Given the description of an element on the screen output the (x, y) to click on. 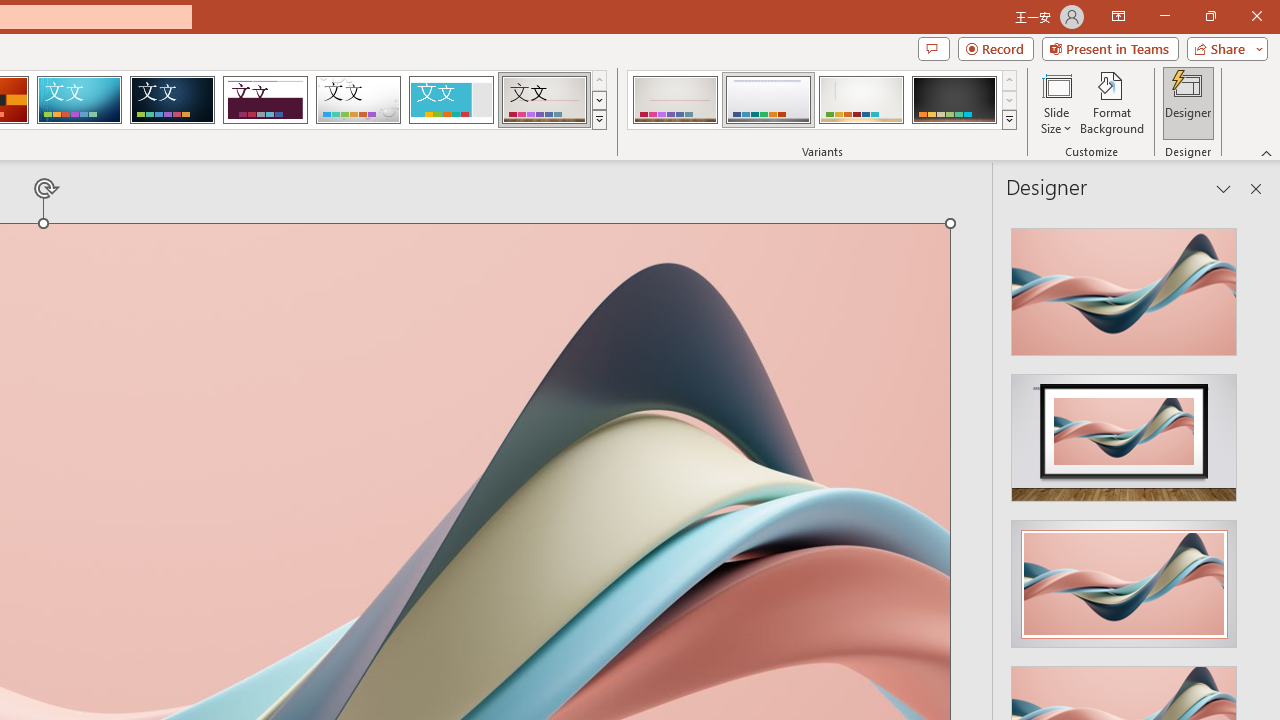
Circuit (79, 100)
